Given the description of an element on the screen output the (x, y) to click on. 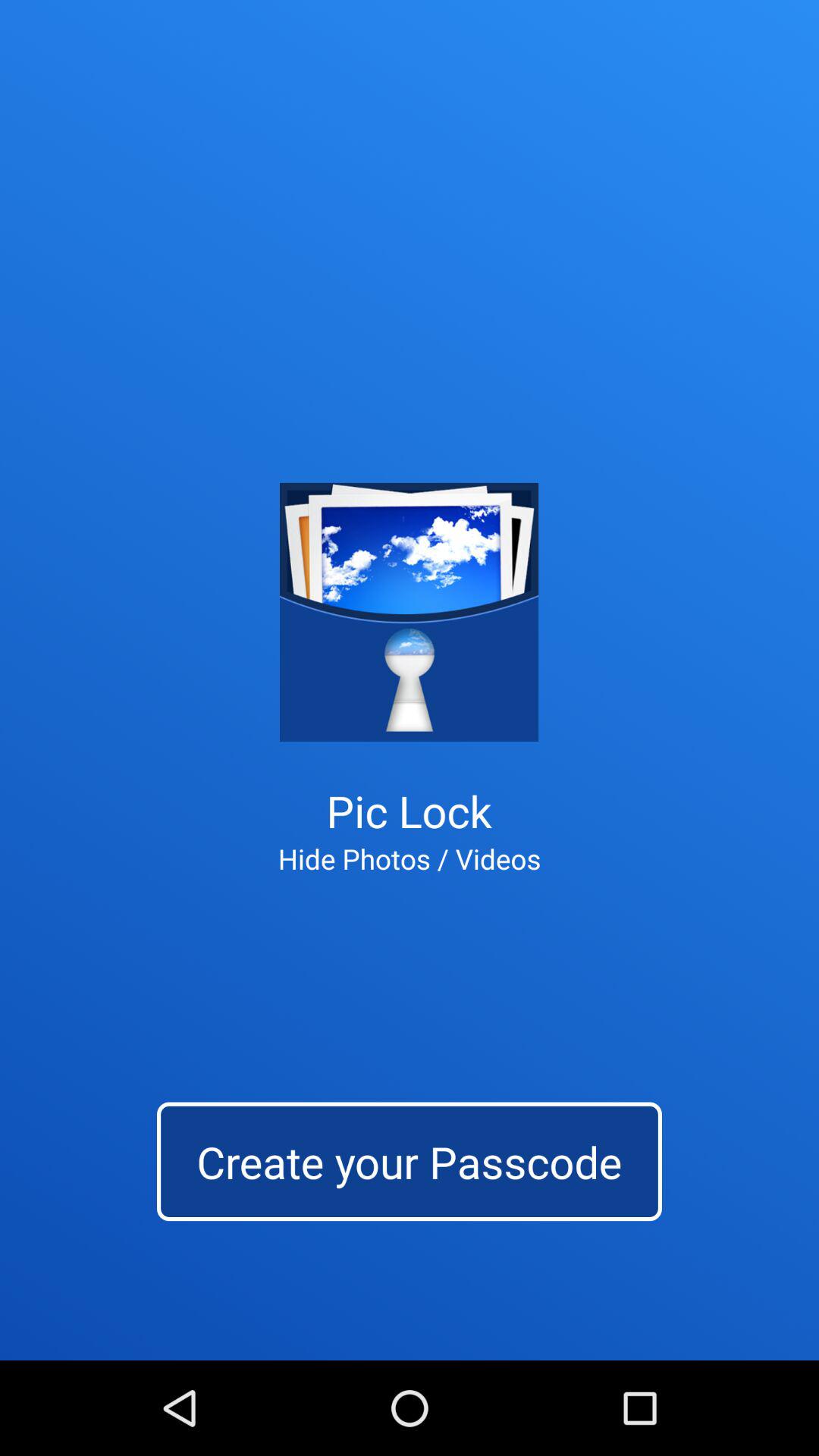
jump to create your passcode icon (409, 1161)
